Given the description of an element on the screen output the (x, y) to click on. 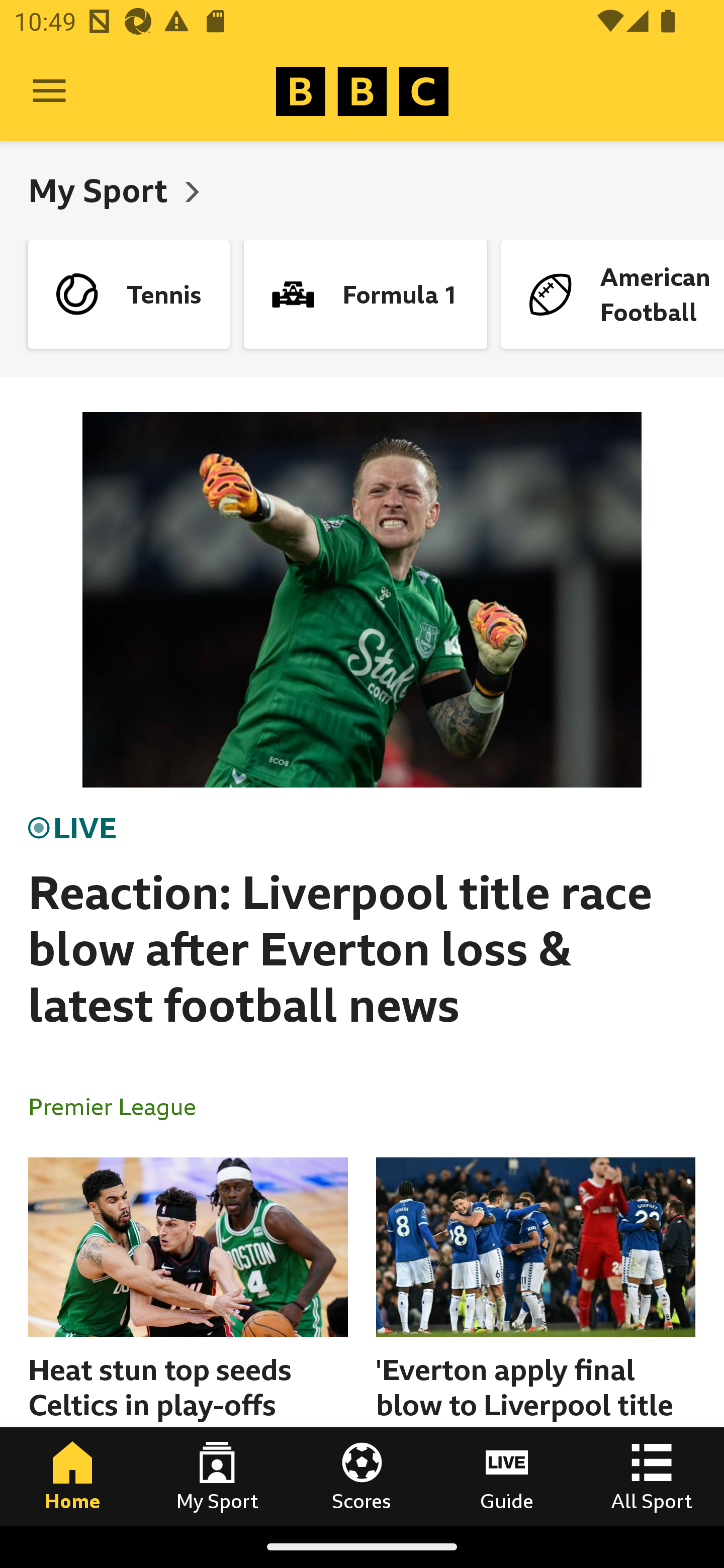
Open Menu (49, 91)
My Sport (101, 190)
Premier League In the section Premier League (119, 1106)
My Sport (216, 1475)
Scores (361, 1475)
Guide (506, 1475)
All Sport (651, 1475)
